Given the description of an element on the screen output the (x, y) to click on. 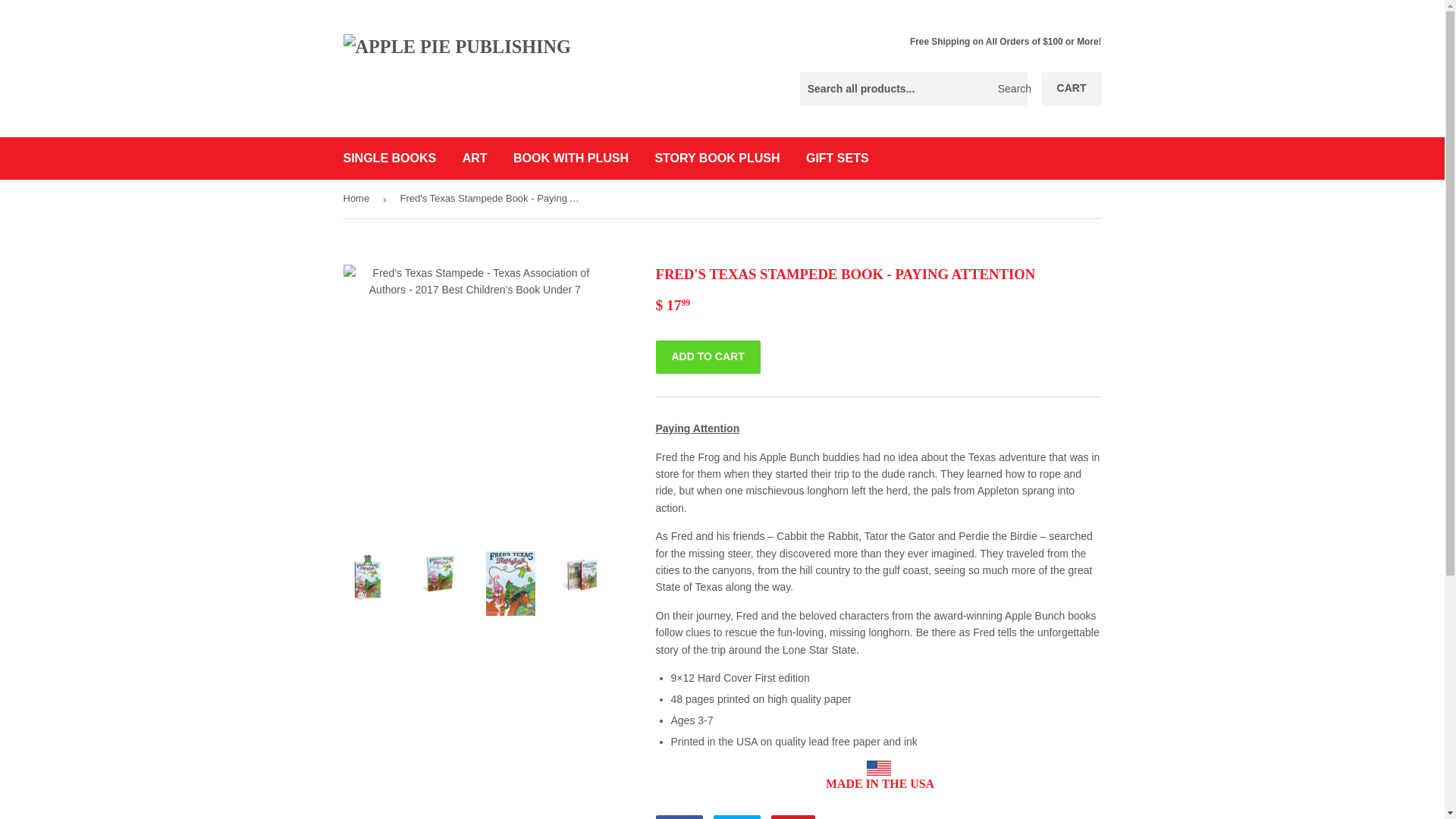
Pin on Pinterest (736, 816)
Search (793, 816)
CART (1009, 89)
SINGLE BOOKS (1072, 88)
STORY BOOK PLUSH (389, 158)
Share on Facebook (716, 158)
BOOK WITH PLUSH (678, 816)
GIFT SETS (571, 158)
